Given the description of an element on the screen output the (x, y) to click on. 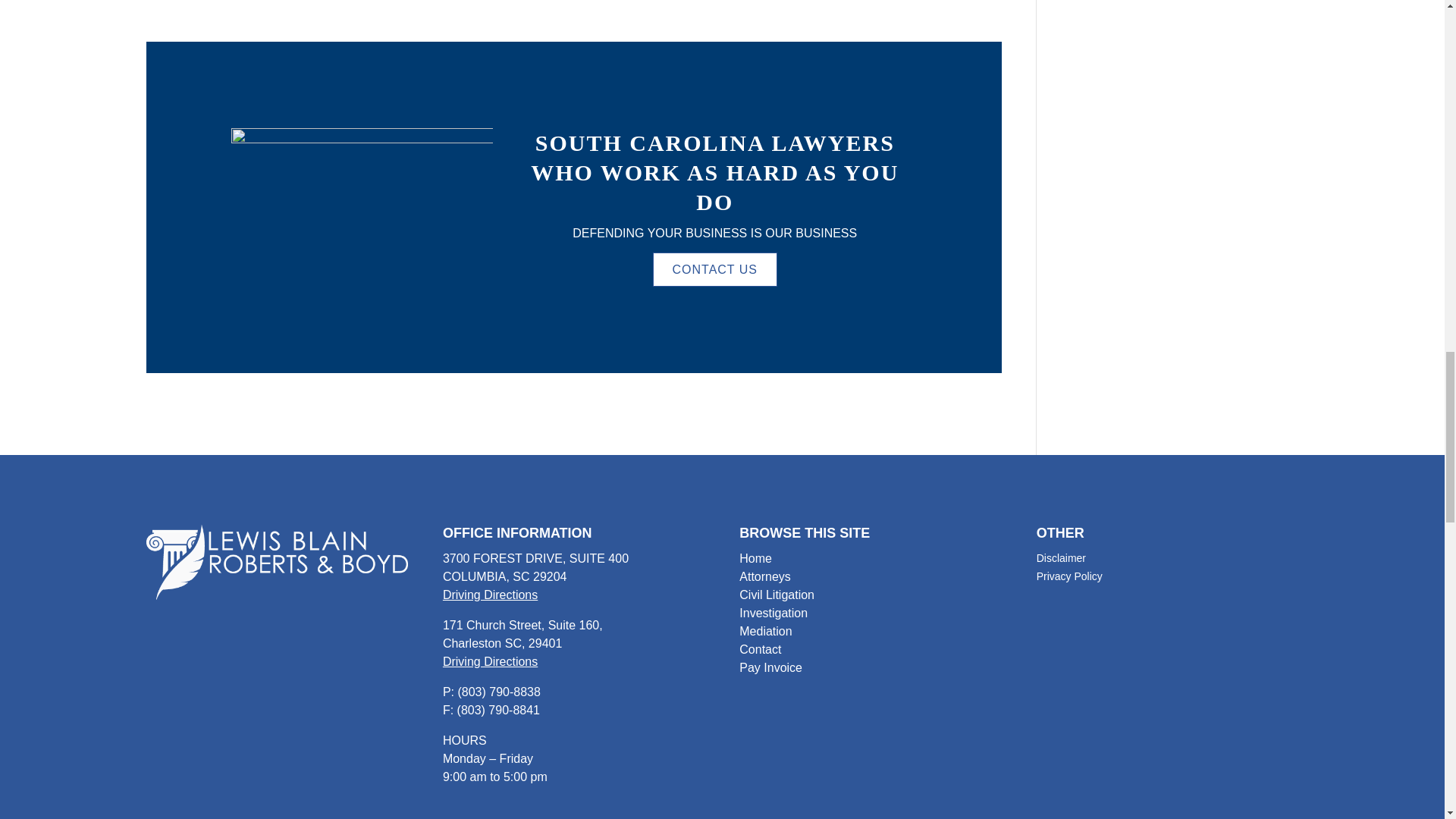
Disclaimer (1061, 558)
Driving Directions (489, 661)
CONTACT US (714, 269)
Attorneys (764, 576)
Pay Invoice (770, 667)
Civil Litigation (776, 594)
Contact (759, 649)
Home (755, 558)
Driving Directions (489, 594)
Mediation (765, 631)
Privacy Policy (1069, 576)
Investigation (773, 612)
